Given the description of an element on the screen output the (x, y) to click on. 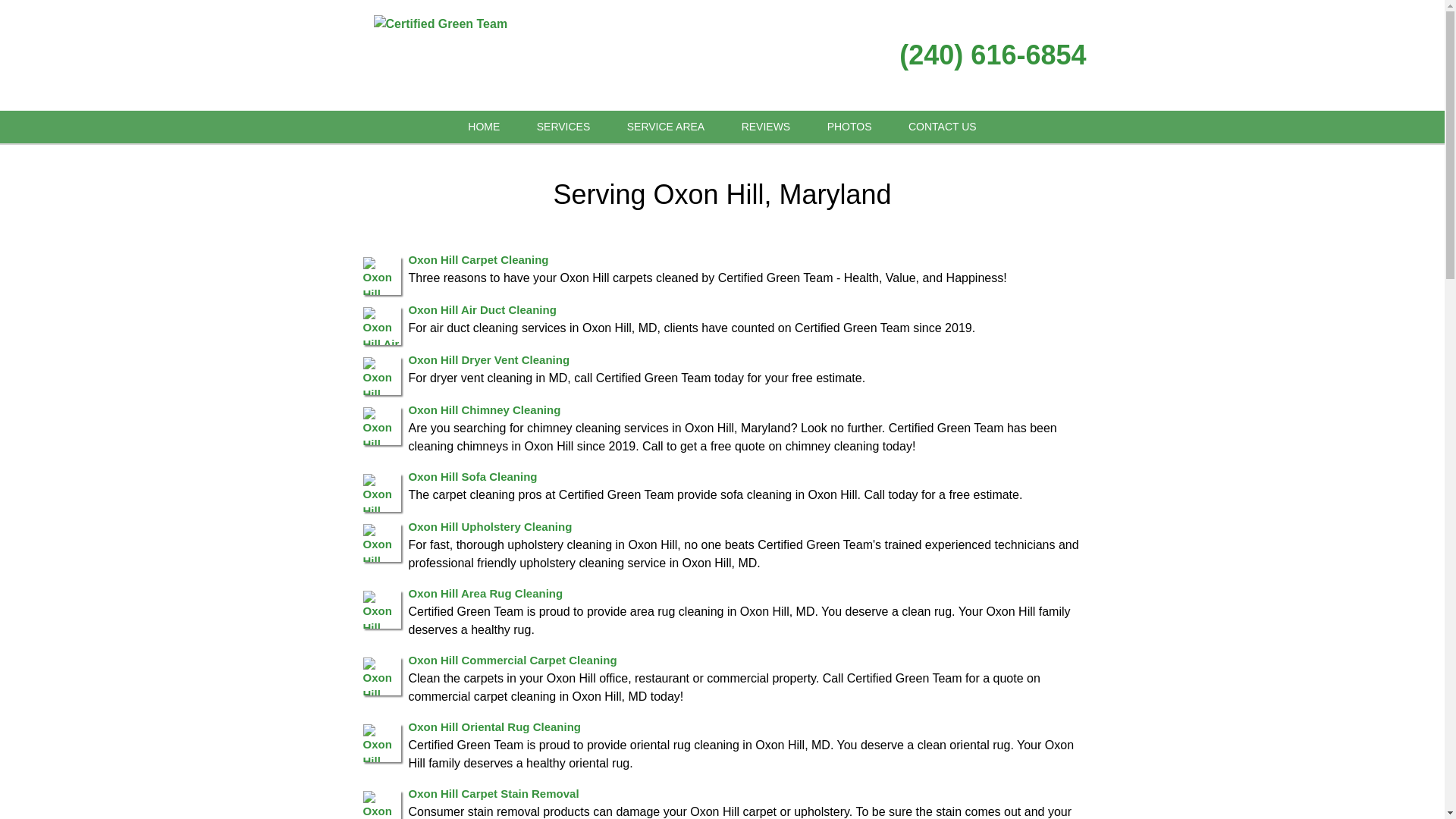
Oxon Hill Air Duct Cleaning (481, 309)
Oxon Hill Commercial Carpet Cleaning (511, 659)
Oxon Hill Area Rug Cleaning (484, 593)
Oxon Hill Dryer Vent Cleaning (488, 359)
SERVICE AREA (665, 126)
Oxon Hill Sofa Cleaning (472, 476)
PHOTOS (849, 126)
Oxon Hill Carpet Cleaning (477, 259)
HOME (483, 126)
CONTACT US (941, 126)
Oxon Hill Oriental Rug Cleaning (493, 726)
SERVICES (563, 126)
Oxon Hill Chimney Cleaning (483, 409)
REVIEWS (766, 126)
Oxon Hill Upholstery Cleaning (489, 526)
